Given the description of an element on the screen output the (x, y) to click on. 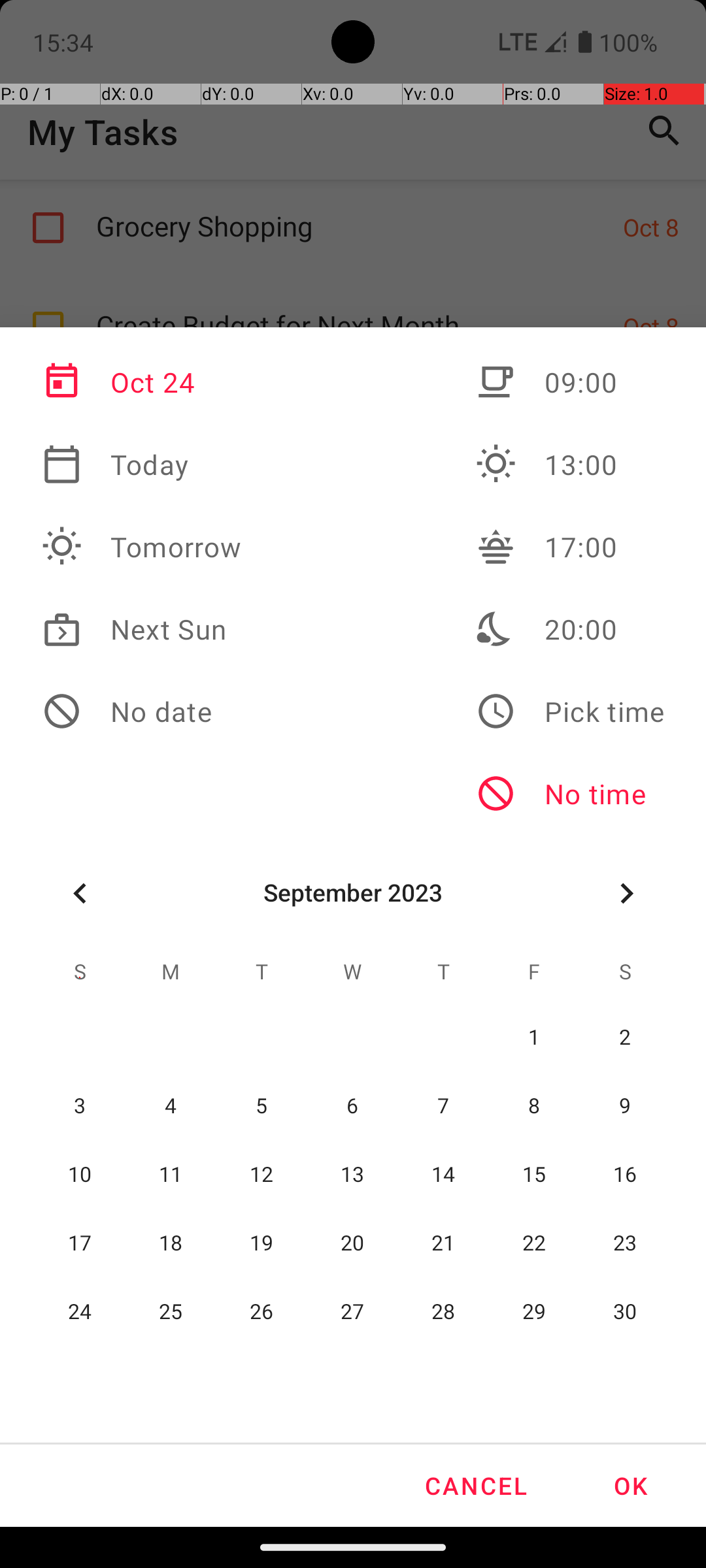
Oct 24 Element type: android.widget.CompoundButton (141, 382)
